Given the description of an element on the screen output the (x, y) to click on. 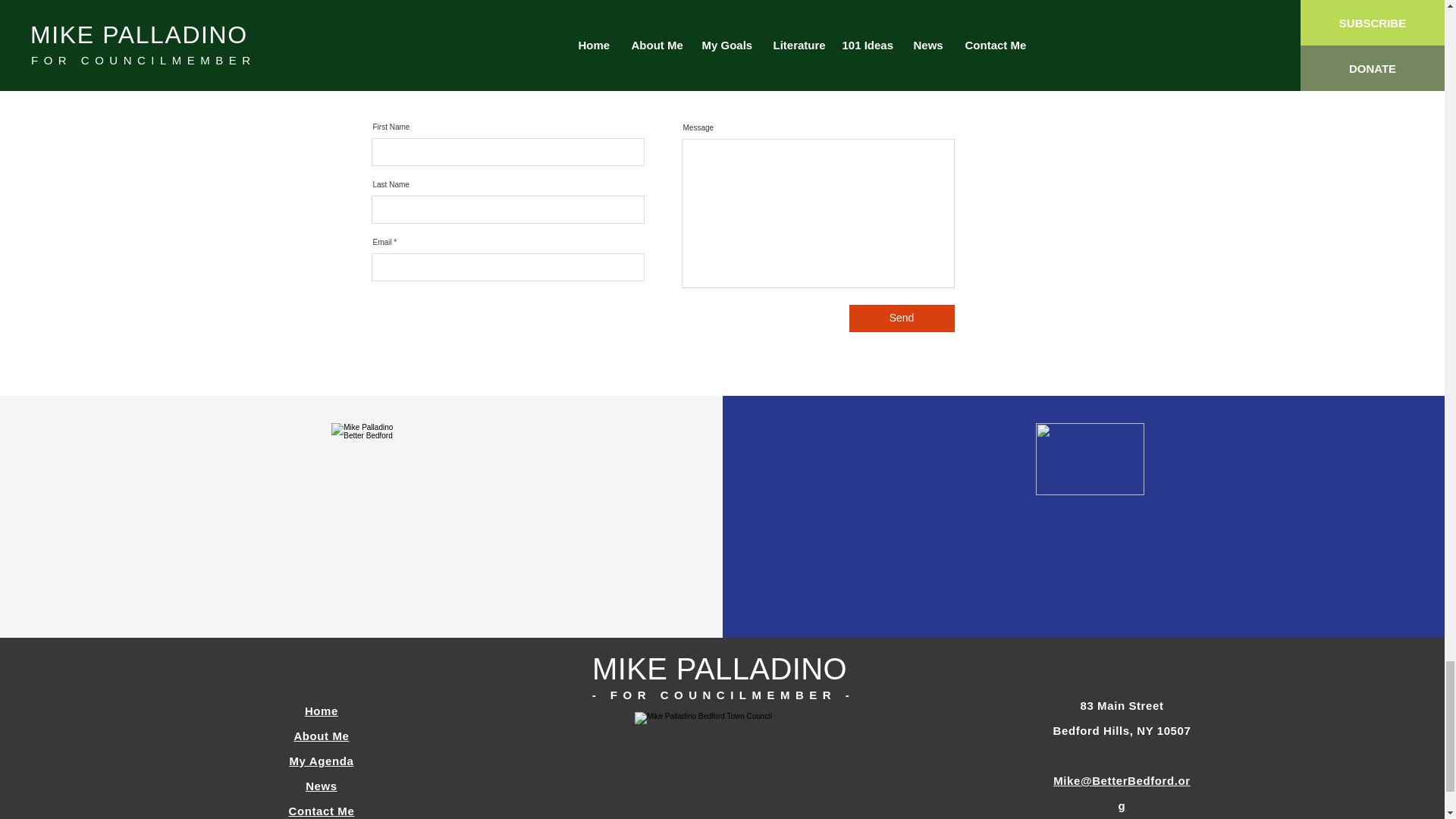
Home (320, 710)
Send (901, 318)
My Agenda (321, 760)
Contact Me (321, 810)
News (321, 785)
About Me (321, 735)
